Given the description of an element on the screen output the (x, y) to click on. 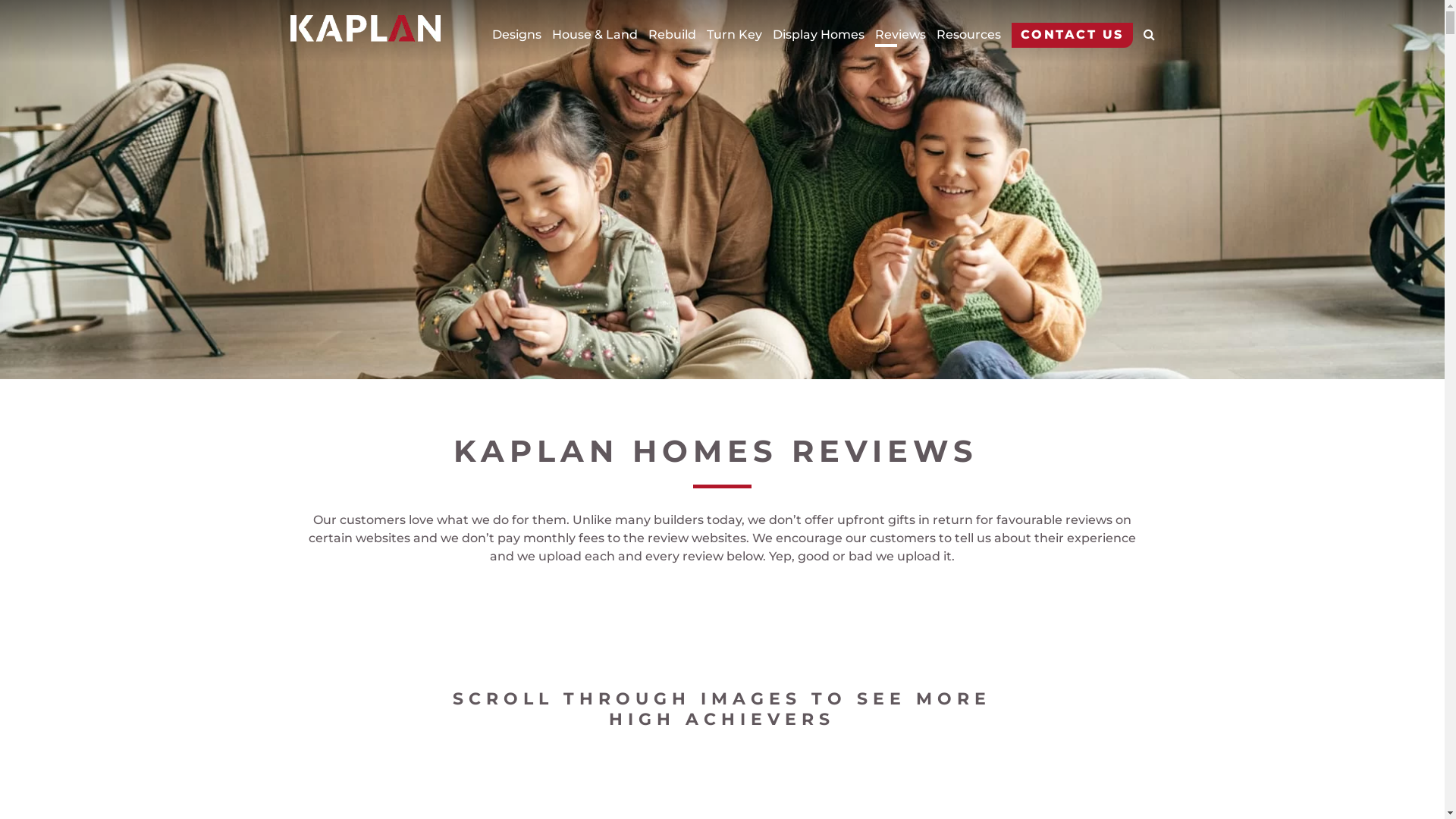
Search Element type: text (1119, 37)
Turn Key Element type: text (734, 34)
Rebuild Element type: text (671, 34)
Reviews Element type: text (900, 34)
House & Land Element type: text (594, 34)
CONTACT US Element type: text (1071, 34)
Display Homes Element type: text (817, 34)
Resources Element type: text (967, 34)
Designs Element type: text (515, 34)
